Given the description of an element on the screen output the (x, y) to click on. 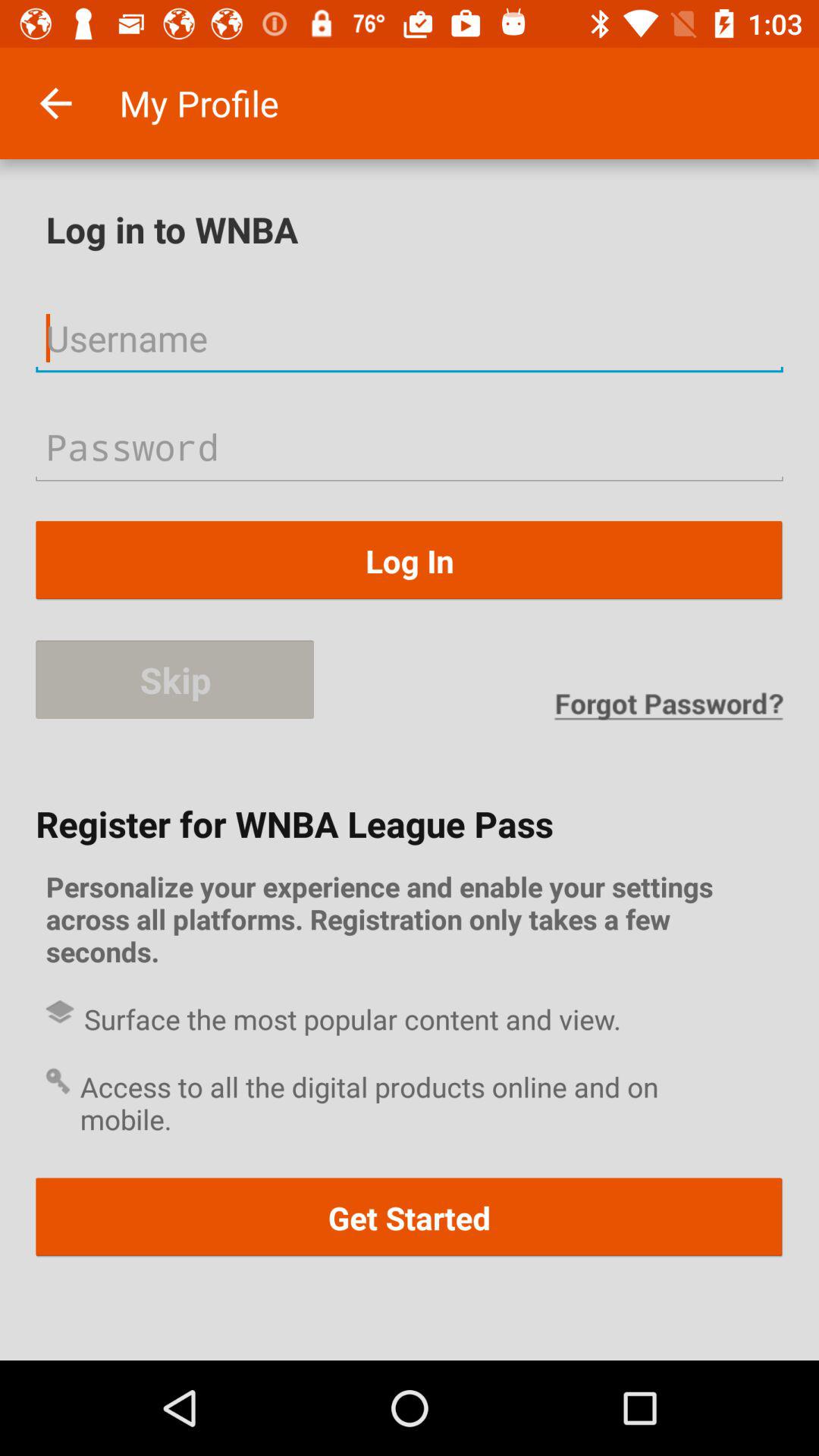
username option to log in (409, 337)
